Given the description of an element on the screen output the (x, y) to click on. 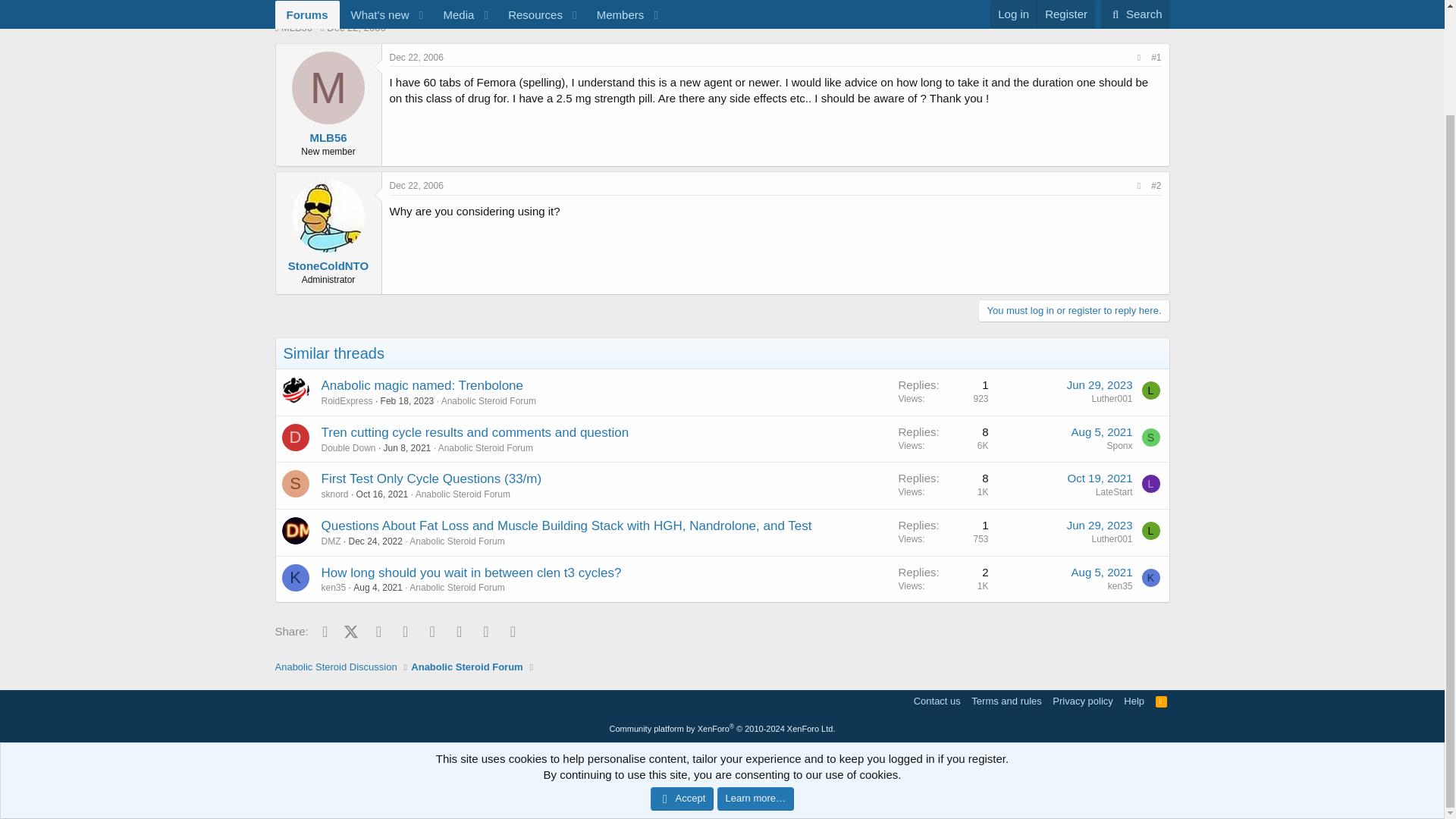
Aug 5, 2021 at 2:53 PM (1101, 431)
Dec 22, 2006 at 5:50 PM (417, 185)
First message reaction score: 0 (942, 532)
Oct 19, 2021 at 7:44 PM (1099, 477)
First message reaction score: 0 (942, 485)
Dec 22, 2006 at 5:39 PM (355, 27)
Dec 24, 2022 at 9:57 PM (376, 541)
Feb 18, 2023 at 8:17 PM (406, 400)
Jun 29, 2023 at 7:47 AM (1099, 524)
Jun 8, 2021 at 1:37 AM (407, 448)
Dec 22, 2006 at 5:39 PM (417, 57)
Jun 29, 2023 at 10:25 AM (1099, 384)
Aug 4, 2021 at 3:02 PM (378, 587)
First message reaction score: 0 (942, 438)
